Given the description of an element on the screen output the (x, y) to click on. 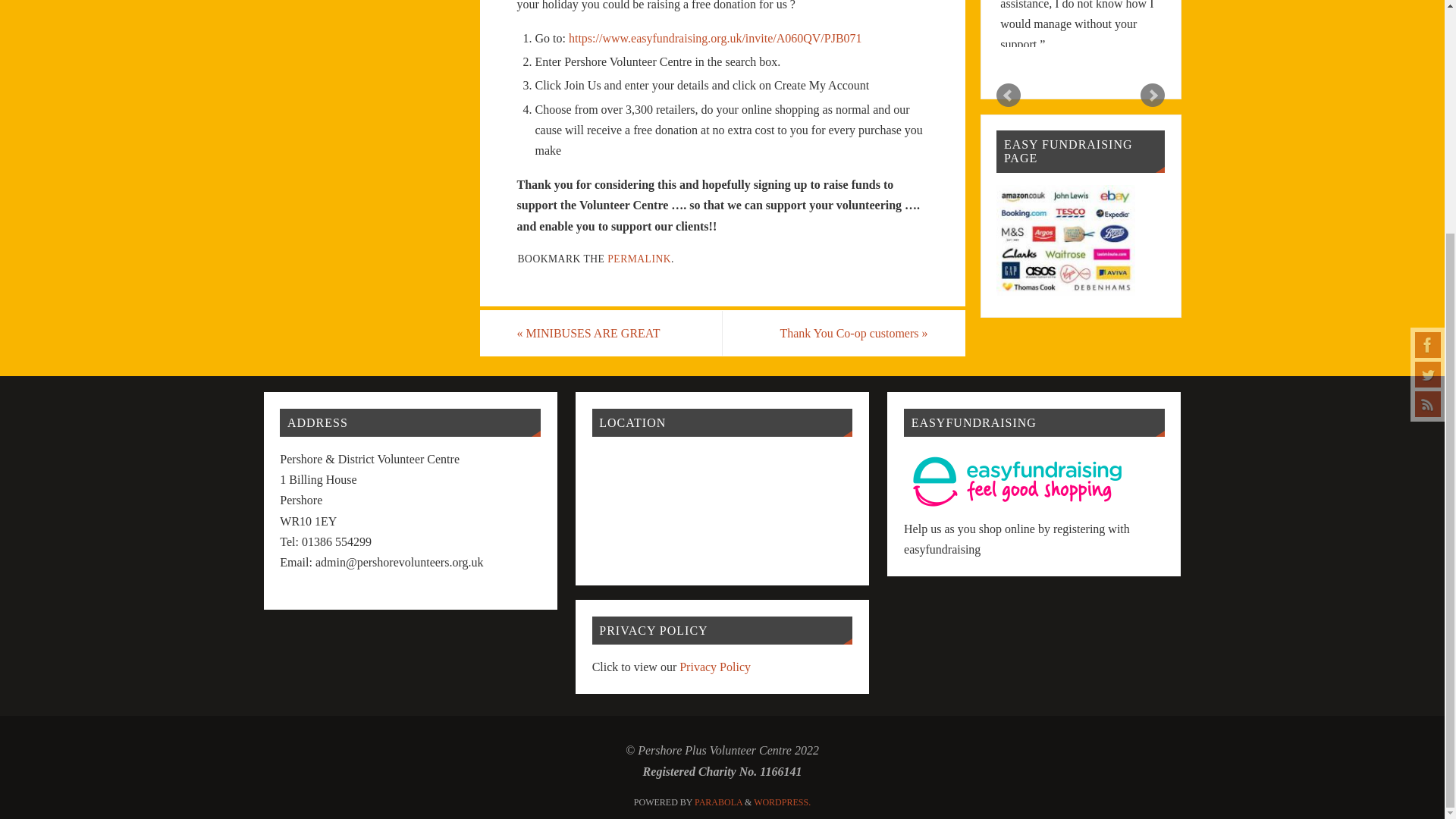
EASY FUNDRAISING PAGE (1065, 290)
Twitter (1428, 56)
RSS (1428, 86)
Facebook (1428, 27)
Easyfundraising (1017, 508)
Parabola Theme by Cryout Creations (718, 801)
